Given the description of an element on the screen output the (x, y) to click on. 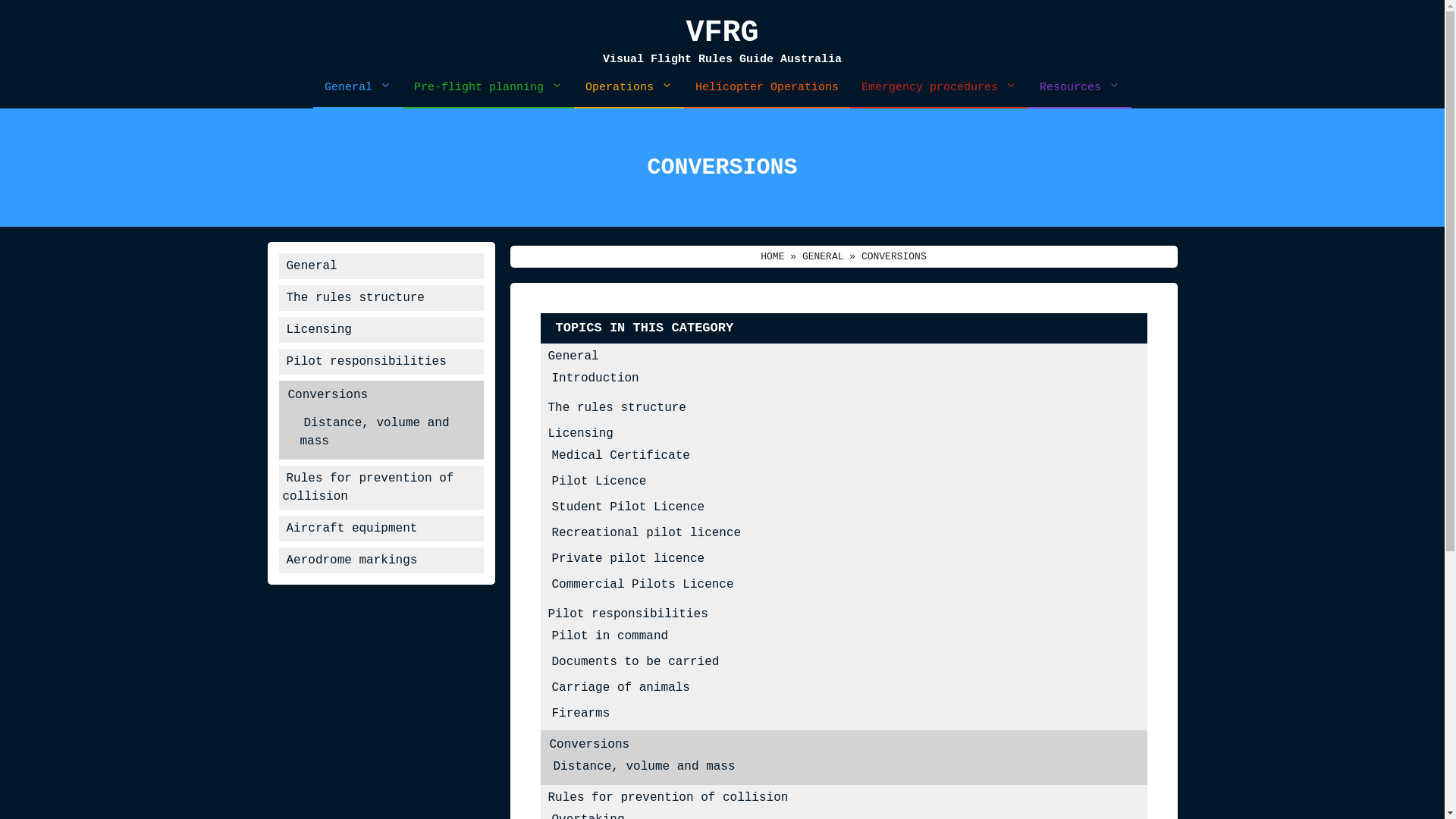
General Element type: text (573, 356)
Firearms Element type: text (580, 713)
Aerodrome markings Element type: text (351, 559)
General Element type: text (311, 265)
The rules structure Element type: text (617, 407)
Pilot responsibilities Element type: text (628, 613)
Pilot Licence Element type: text (598, 481)
Aircraft equipment Element type: text (351, 527)
General Element type: text (357, 87)
Carriage of animals Element type: text (620, 687)
Operations Element type: text (629, 87)
Helicopter Operations Element type: text (767, 87)
Resources Element type: text (1079, 87)
Conversions Element type: text (589, 744)
Distance, volume and mass Element type: text (643, 766)
HOME Element type: text (772, 255)
Recreational pilot licence Element type: text (645, 532)
Student Pilot Licence Element type: text (627, 506)
Documents to be carried Element type: text (634, 661)
The rules structure Element type: text (354, 296)
Pilot responsibilities Element type: text (365, 360)
GENERAL Element type: text (823, 255)
Medical Certificate Element type: text (620, 455)
Licensing Element type: text (318, 328)
Licensing Element type: text (580, 433)
Commercial Pilots Licence Element type: text (642, 584)
Private pilot licence Element type: text (627, 558)
Rules for prevention of collision Element type: text (668, 797)
Pilot in command Element type: text (609, 635)
Conversions Element type: text (327, 393)
Pre-flight planning Element type: text (488, 87)
Distance, volume and mass Element type: text (374, 431)
Emergency procedures Element type: text (939, 87)
VFRG Element type: text (721, 32)
Rules for prevention of collision Element type: text (367, 486)
Introduction Element type: text (594, 378)
